Given the description of an element on the screen output the (x, y) to click on. 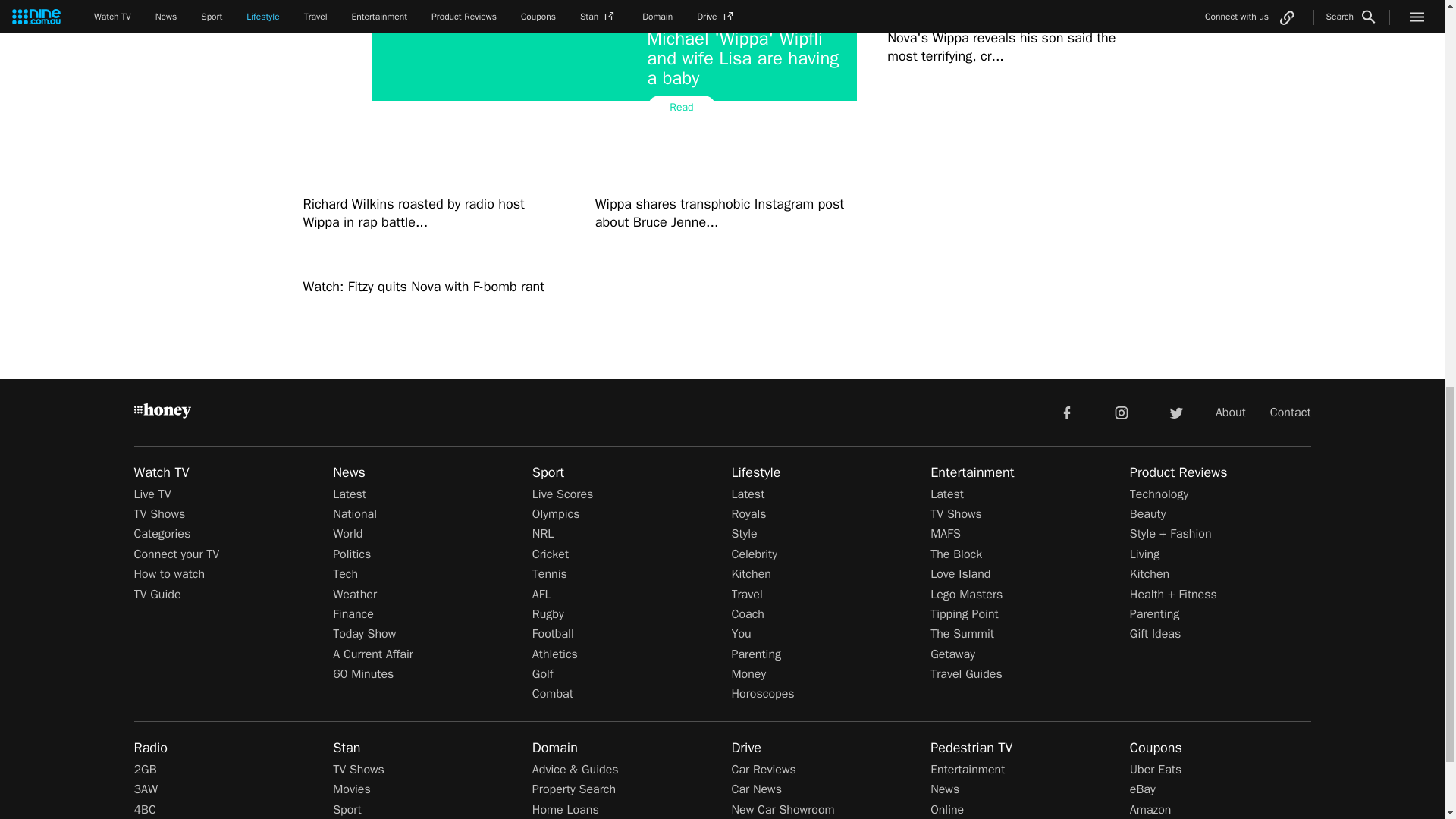
facebook (1066, 411)
twitter (1175, 411)
instagram (1121, 411)
